Given the description of an element on the screen output the (x, y) to click on. 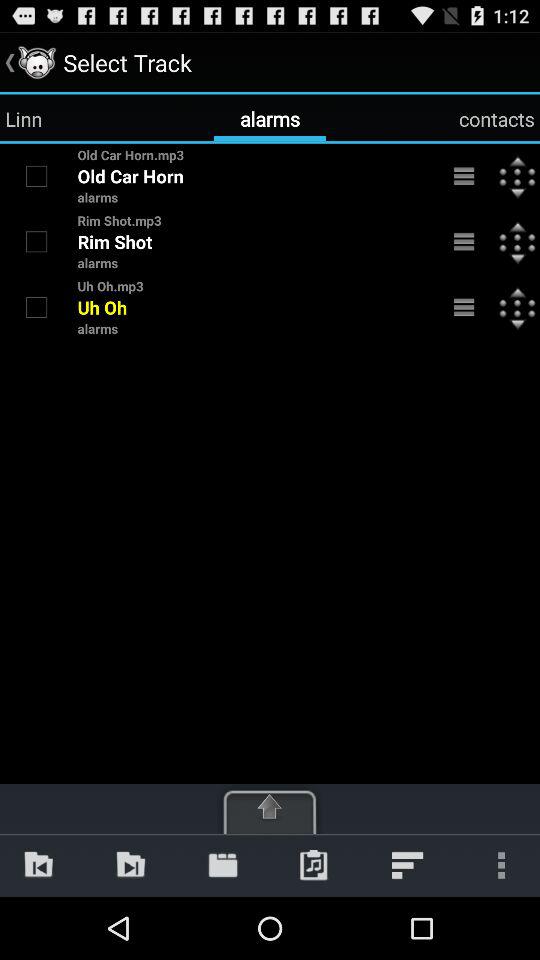
selection box (36, 176)
